Given the description of an element on the screen output the (x, y) to click on. 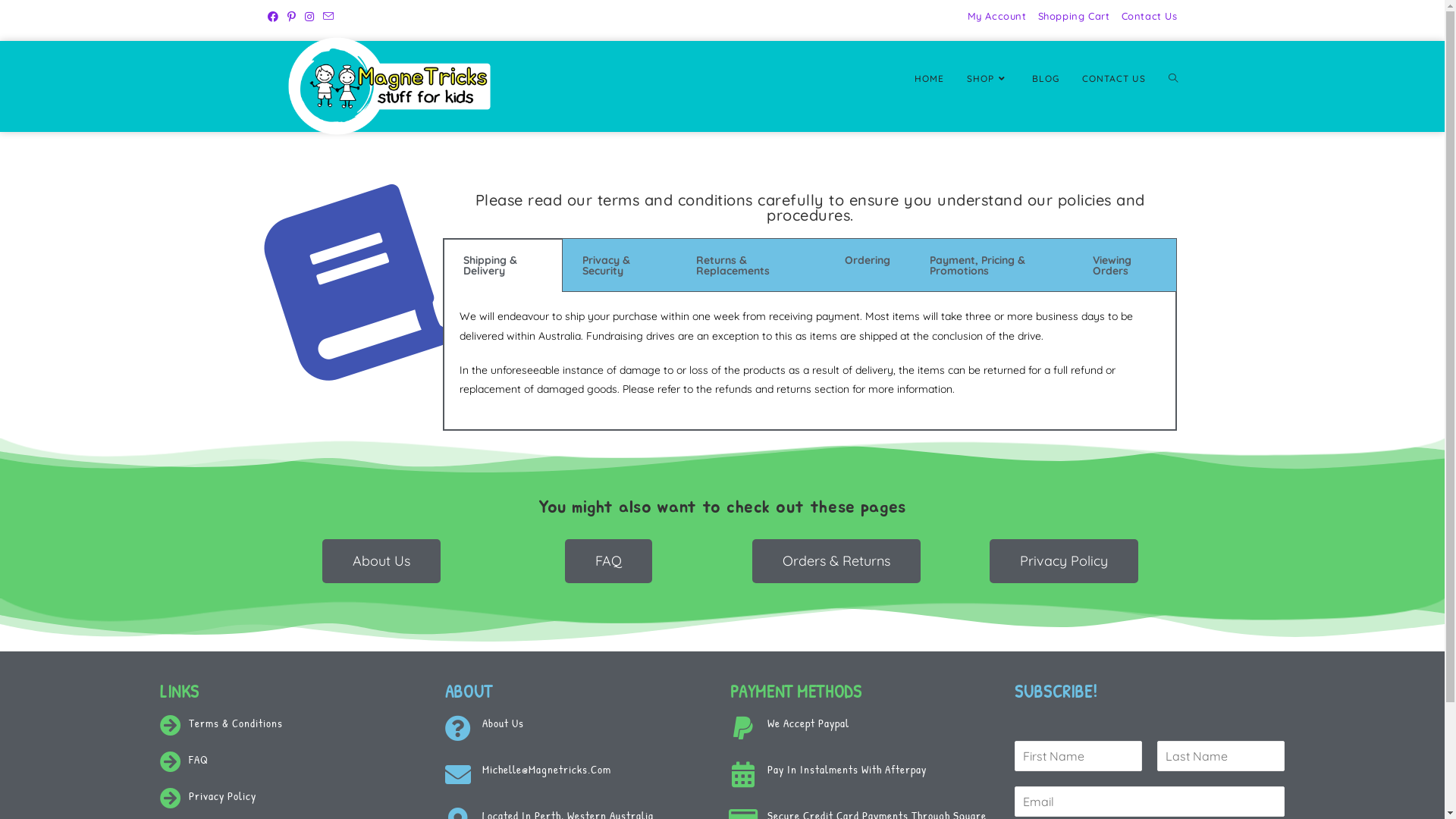
About Us Element type: text (380, 561)
Michelle@Magnetricks.Com Element type: text (546, 769)
BLOG Element type: text (1045, 78)
About Us Element type: text (503, 723)
Privacy Policy Element type: text (222, 795)
SHOP Element type: text (987, 78)
Shopping Cart Element type: text (1074, 16)
Contact Us Element type: text (1148, 16)
FAQ Element type: text (608, 561)
HOME Element type: text (928, 78)
Orders & Returns Element type: text (836, 561)
Terms & Conditions Element type: text (235, 723)
FAQ Element type: text (198, 759)
Privacy Policy Element type: text (1062, 561)
CONTACT US Element type: text (1113, 78)
My Account Element type: text (996, 16)
